Given the description of an element on the screen output the (x, y) to click on. 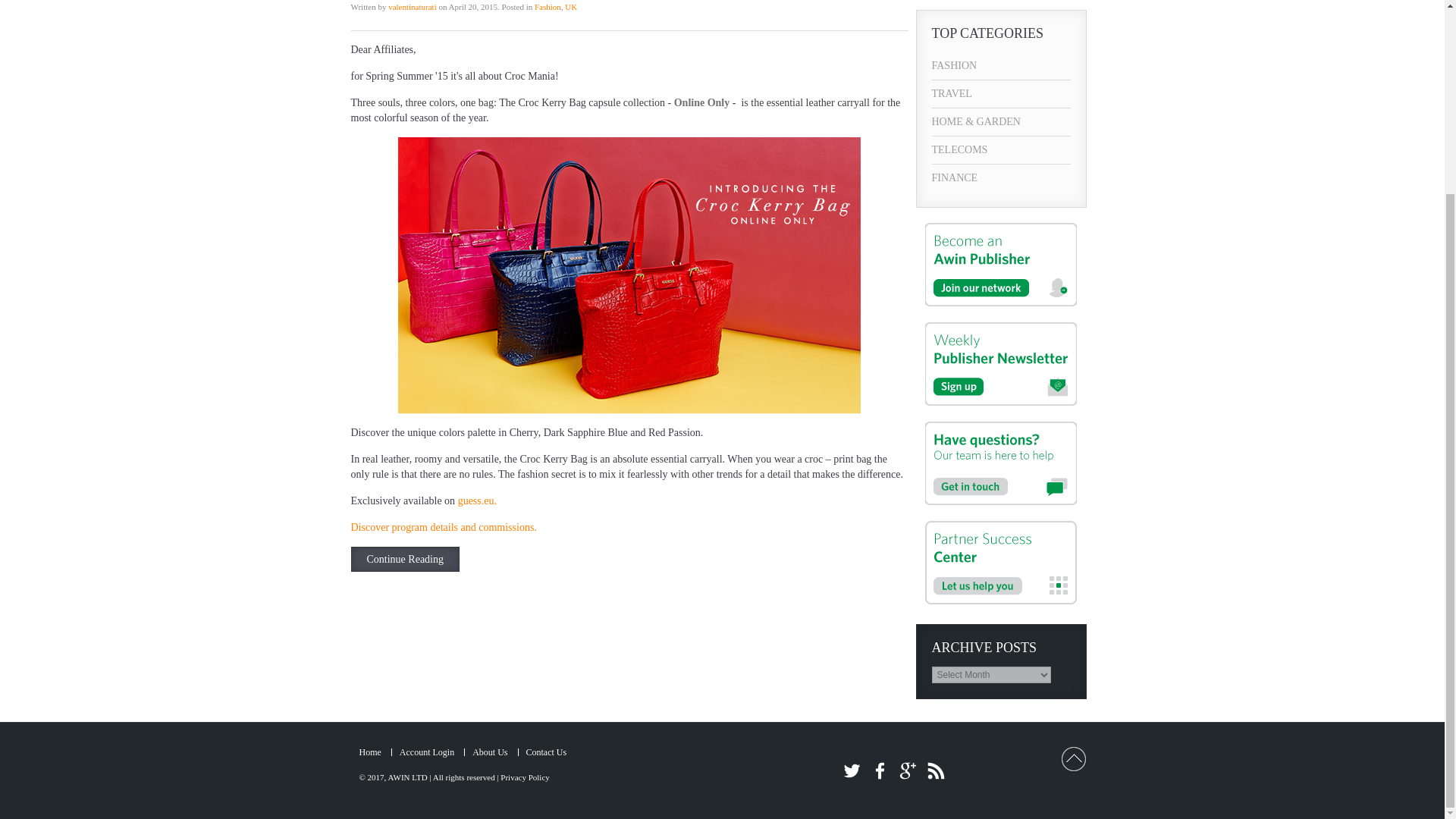
Fashion (547, 6)
FINANCE (1000, 177)
TRAVEL (1000, 93)
Home (370, 752)
Discover program details and commissions. (442, 527)
Privacy Policy (524, 777)
valentinaturati (412, 6)
Account Login (426, 752)
Contact Us (546, 752)
valentinaturati (412, 6)
